Given the description of an element on the screen output the (x, y) to click on. 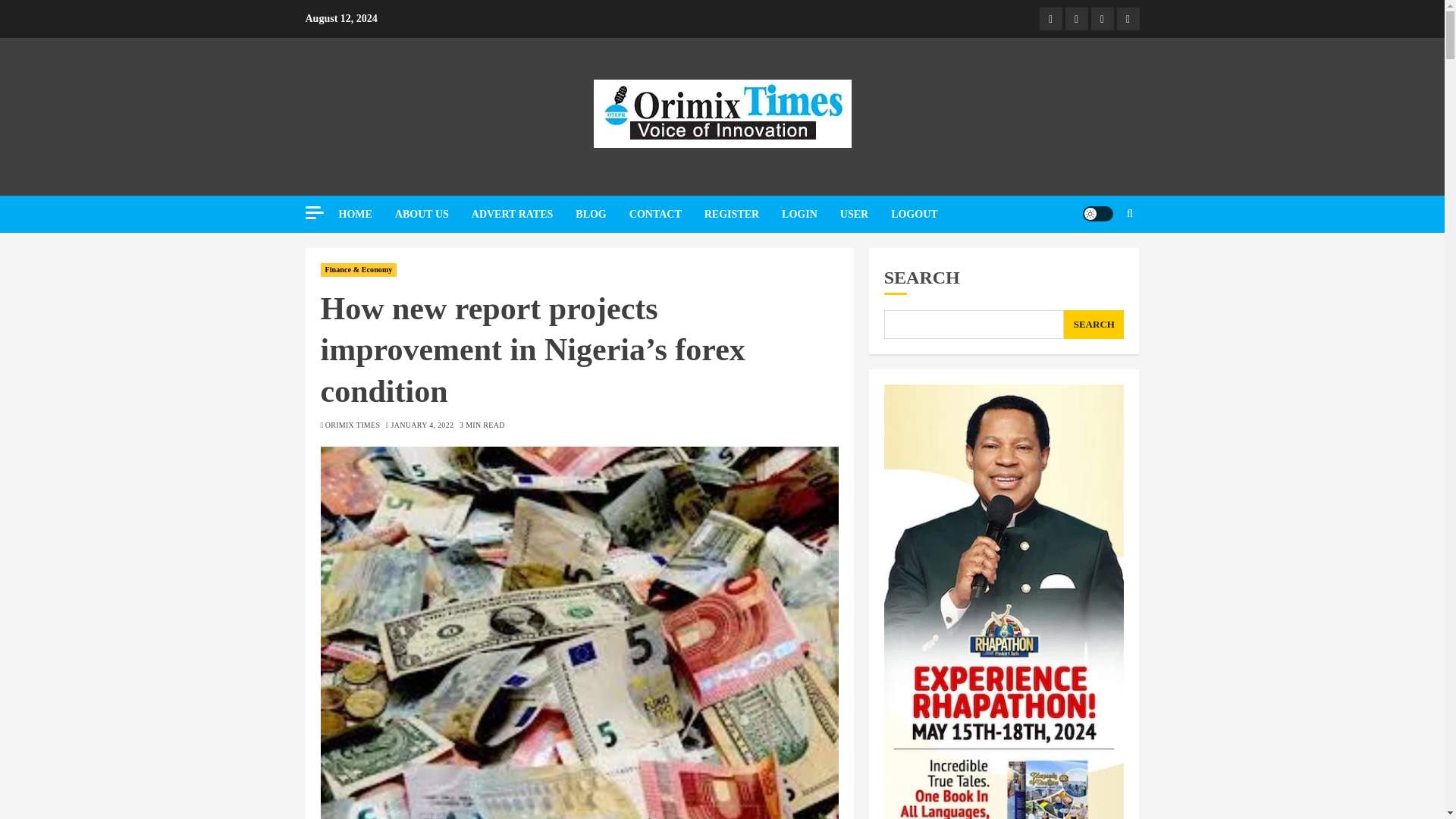
Facebook (1050, 18)
Twitter (1075, 18)
Email (1127, 18)
Linkedin (1101, 18)
